Given the description of an element on the screen output the (x, y) to click on. 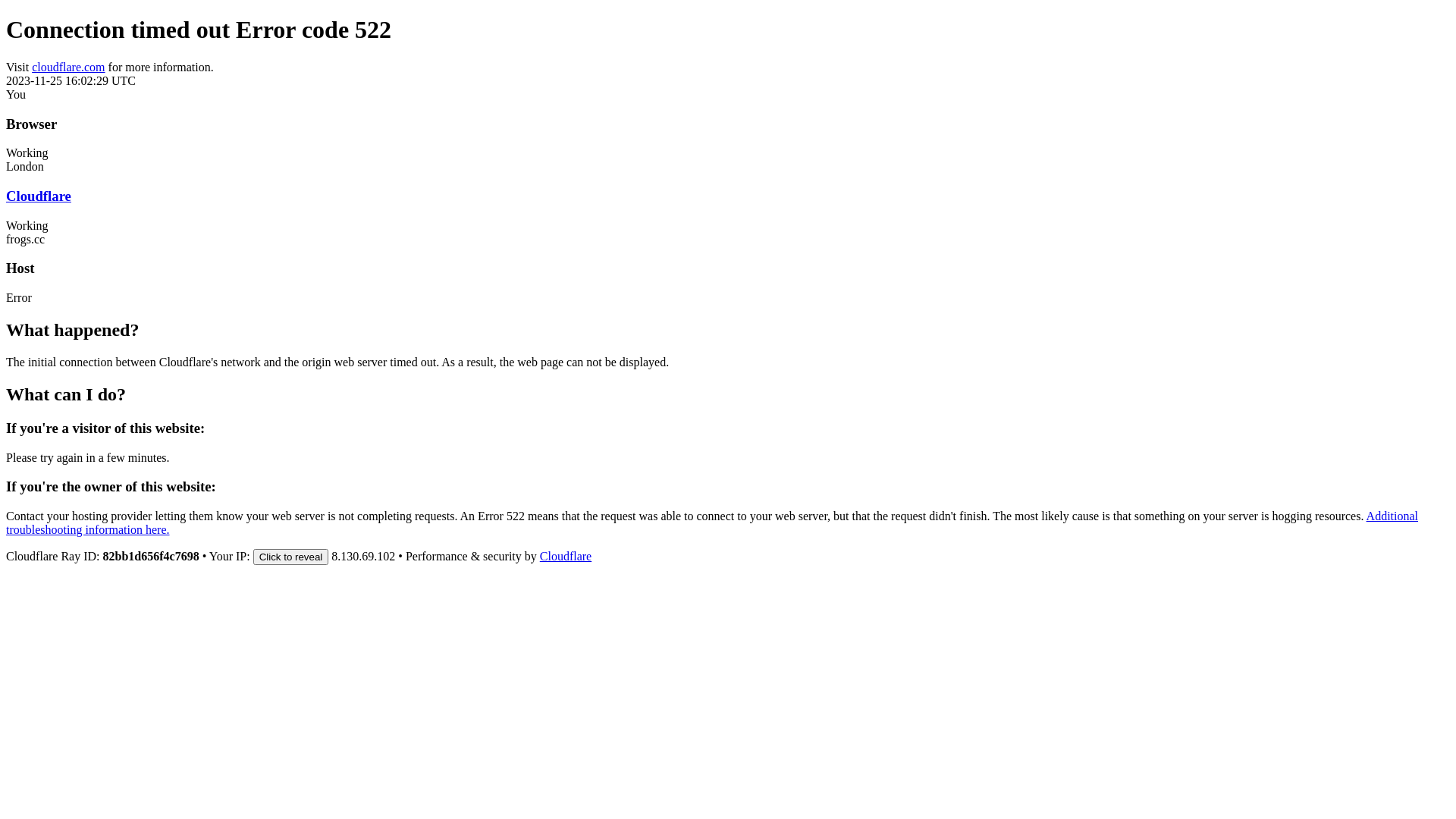
cloudflare.com Element type: text (67, 66)
Cloudflare Element type: text (565, 555)
Click to reveal Element type: text (291, 556)
Cloudflare Element type: text (38, 195)
Additional troubleshooting information here. Element type: text (712, 522)
